Given the description of an element on the screen output the (x, y) to click on. 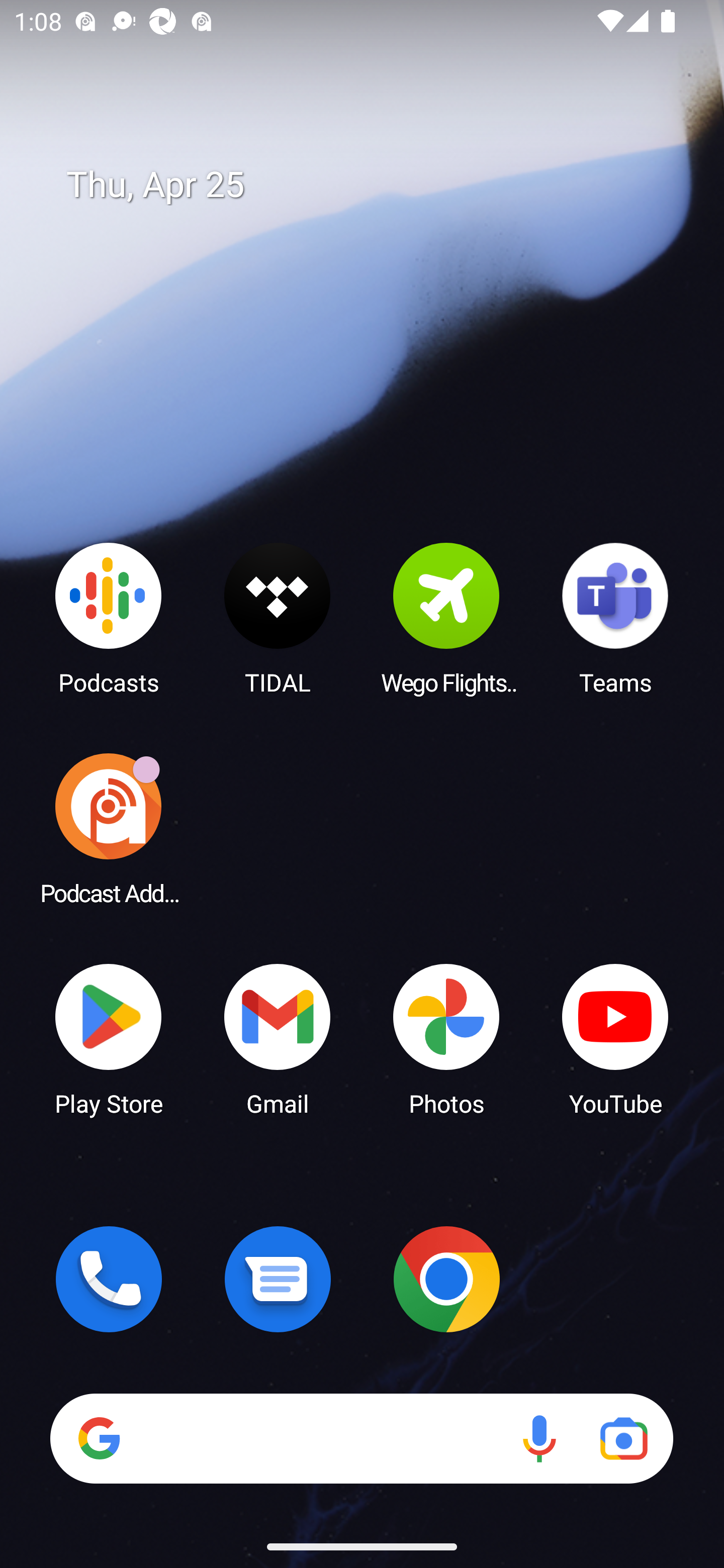
Thu, Apr 25 (375, 184)
Podcasts (108, 617)
TIDAL (277, 617)
Wego Flights & Hotels (445, 617)
Teams (615, 617)
Play Store (108, 1038)
Gmail (277, 1038)
Photos (445, 1038)
YouTube (615, 1038)
Phone (108, 1279)
Messages (277, 1279)
Chrome (446, 1279)
Search Voice search Google Lens (361, 1438)
Voice search (539, 1438)
Google Lens (623, 1438)
